Given the description of an element on the screen output the (x, y) to click on. 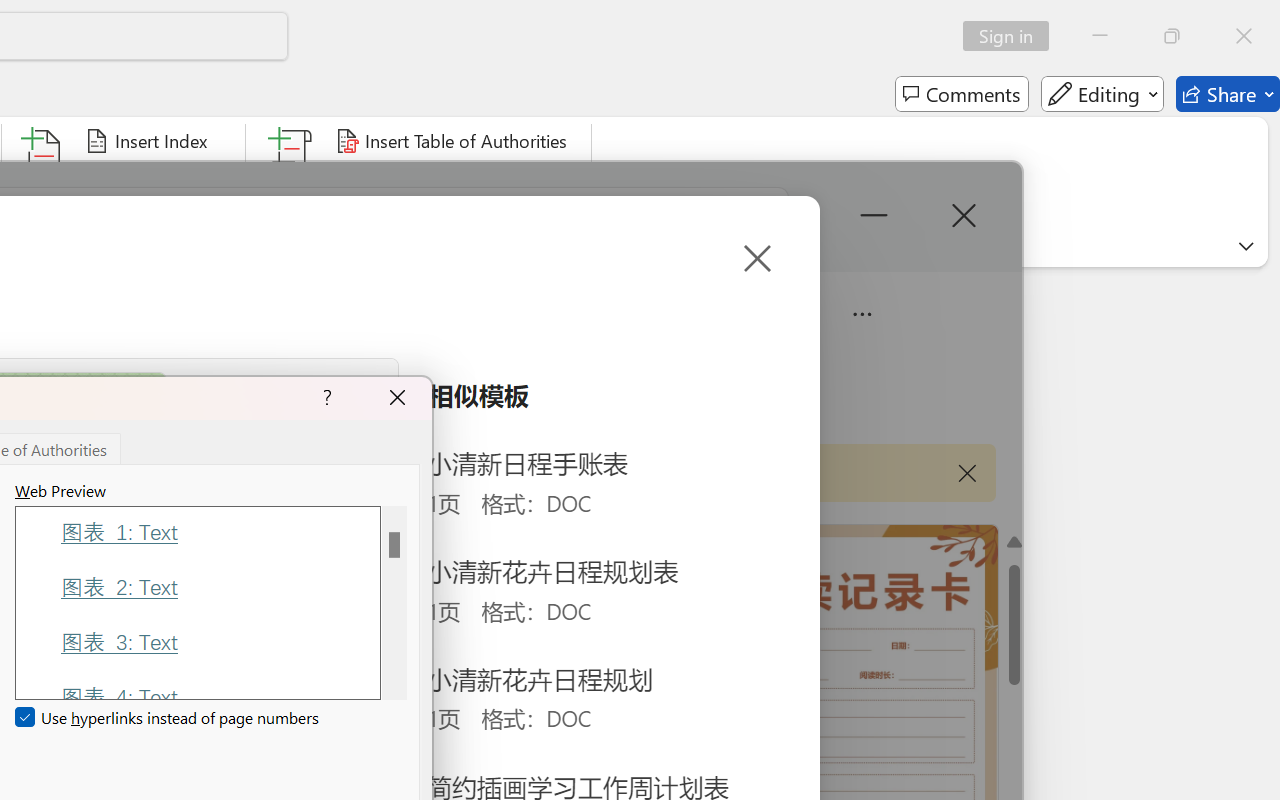
Mark Entry... (44, 179)
Insert Index... (149, 141)
Update Table (404, 179)
Editing (1101, 94)
